Given the description of an element on the screen output the (x, y) to click on. 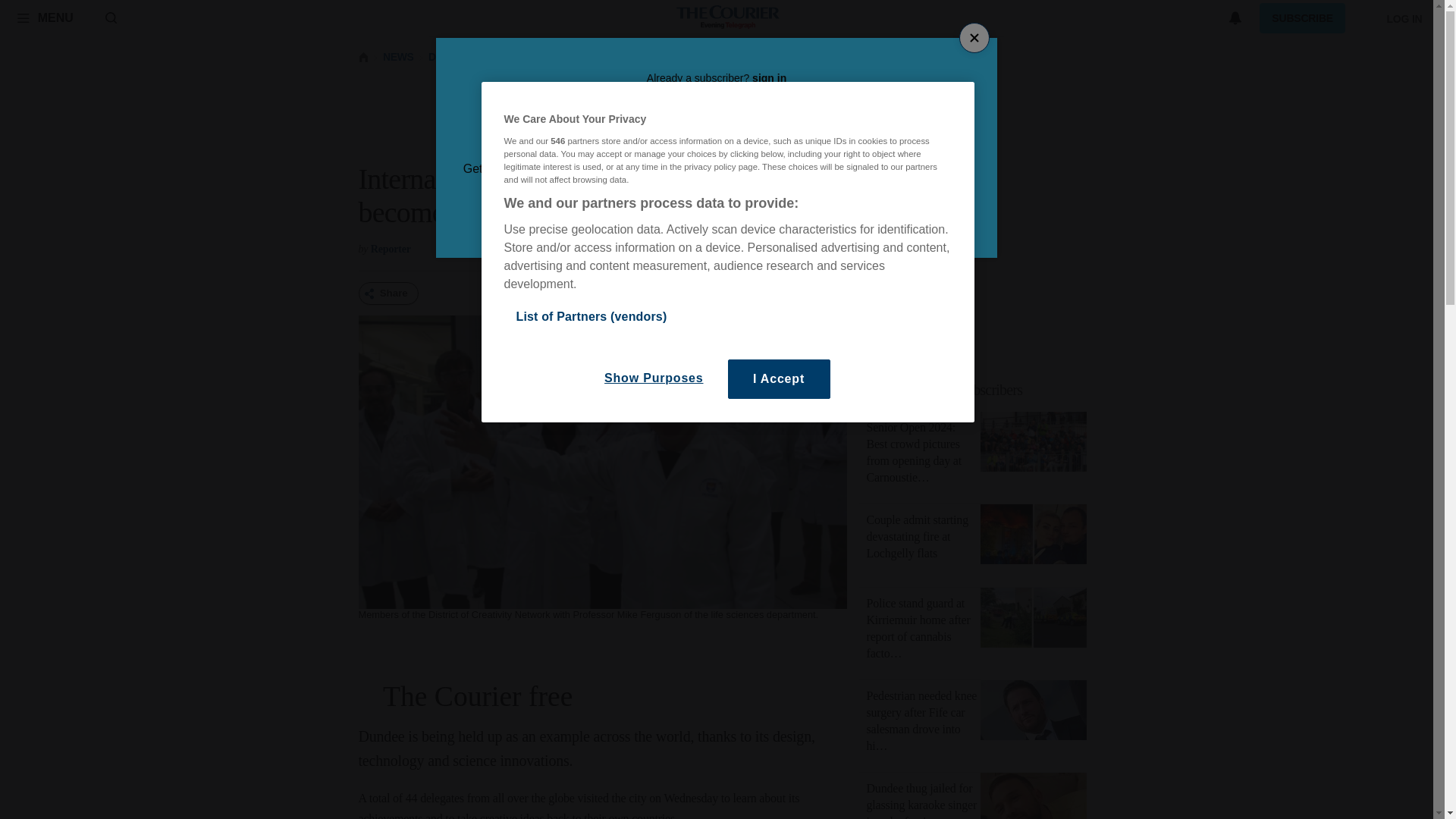
Couple admit starting devastating fire at Lochgelly flats (1032, 537)
Couple admit starting devastating fire at Lochgelly flats (917, 536)
MENU (44, 17)
Exclusive to our subscribers (981, 389)
The Courier (727, 17)
Exclusive to our subscribers (944, 389)
